Given the description of an element on the screen output the (x, y) to click on. 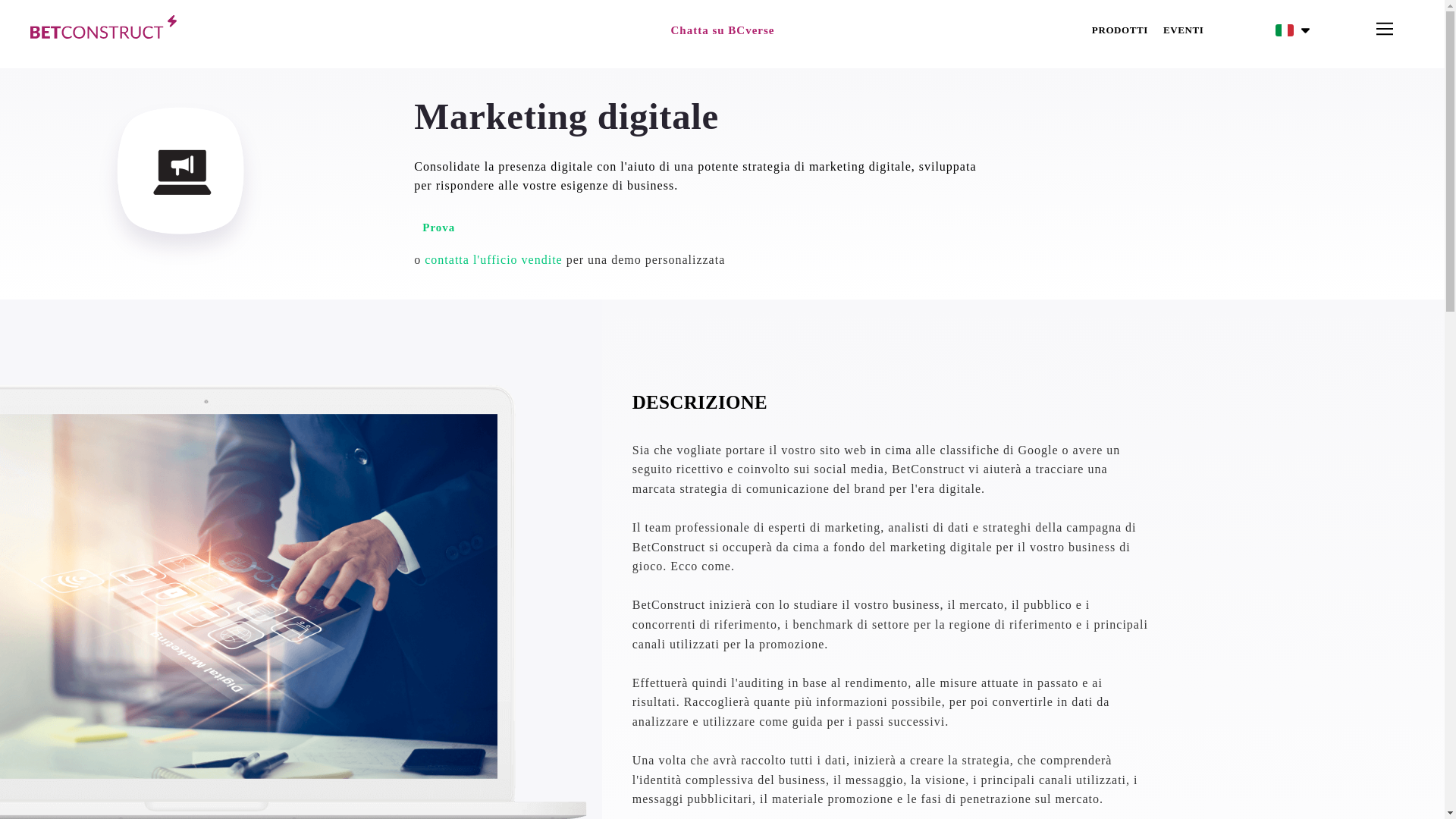
Prova (438, 228)
PRODOTTI (1120, 30)
contatta l'ufficio vendite (493, 259)
EVENTI (1183, 30)
Chatta su BCverse (721, 30)
